Given the description of an element on the screen output the (x, y) to click on. 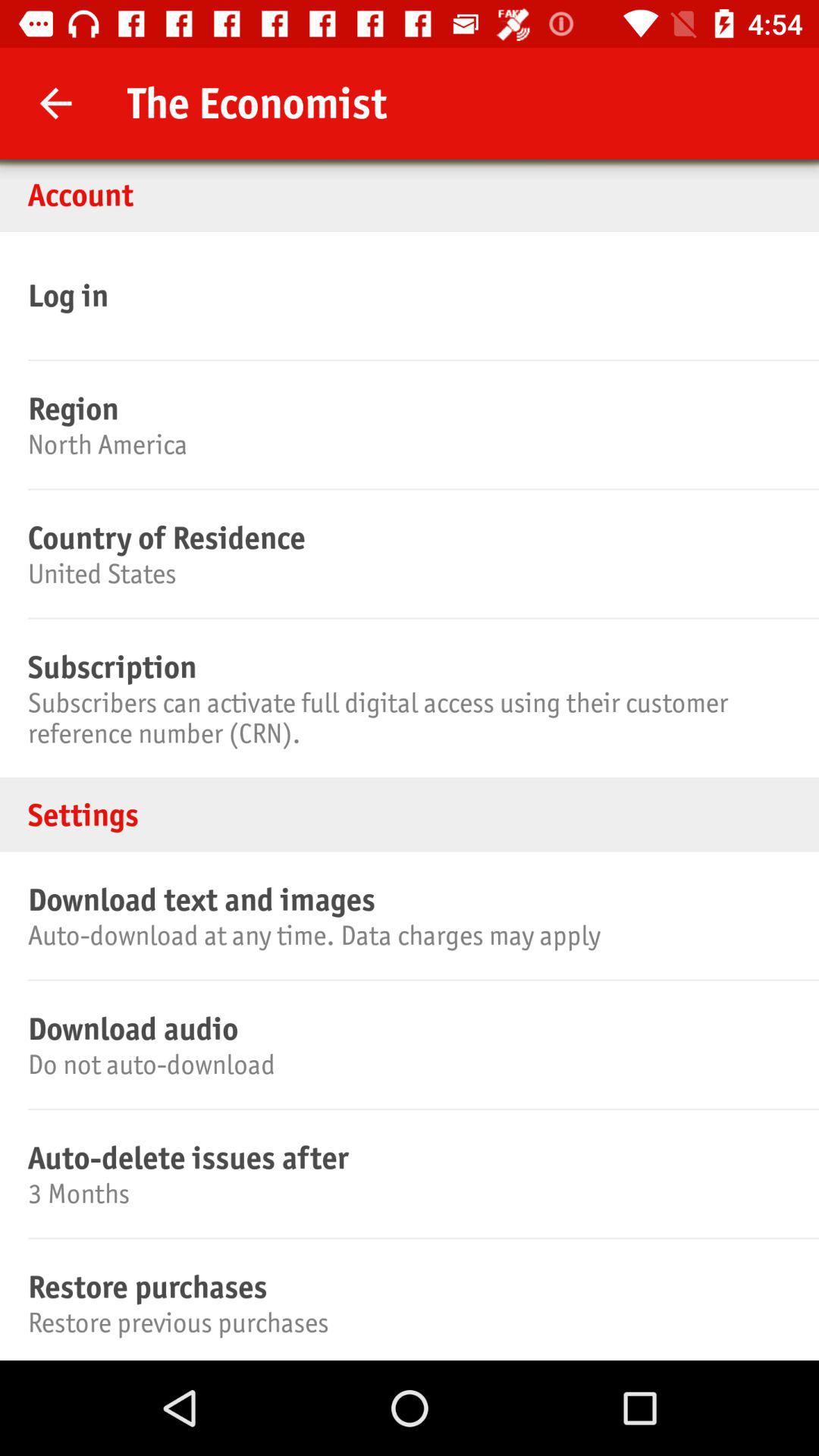
press item above the account icon (55, 103)
